Given the description of an element on the screen output the (x, y) to click on. 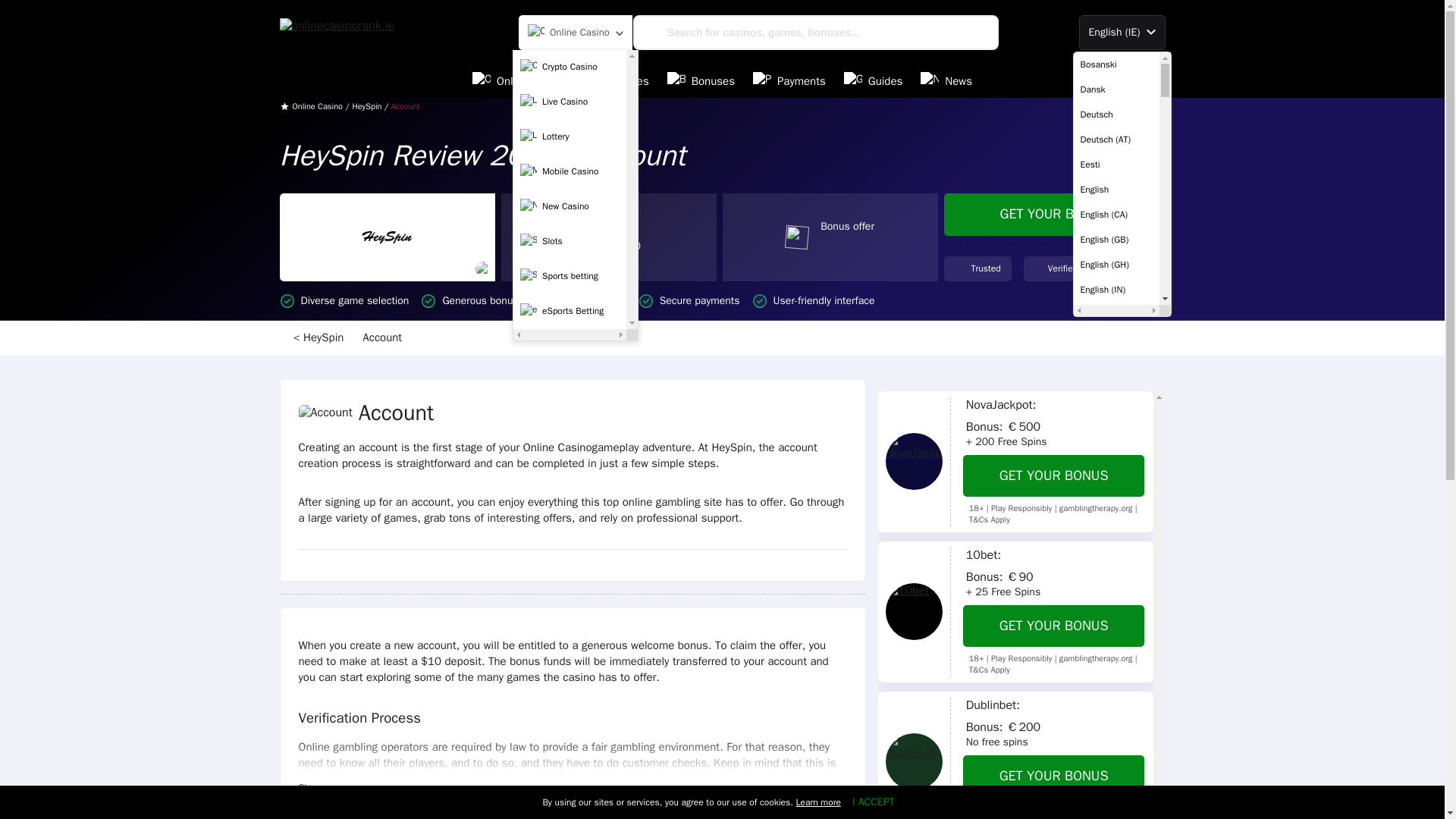
Dansk (1116, 89)
Lottery (569, 136)
Account (384, 337)
Live Casino (569, 102)
Eesti (1116, 163)
Sports betting (569, 276)
Slots (569, 241)
Crypto Casino (569, 67)
Mobile Casino (569, 172)
